Given the description of an element on the screen output the (x, y) to click on. 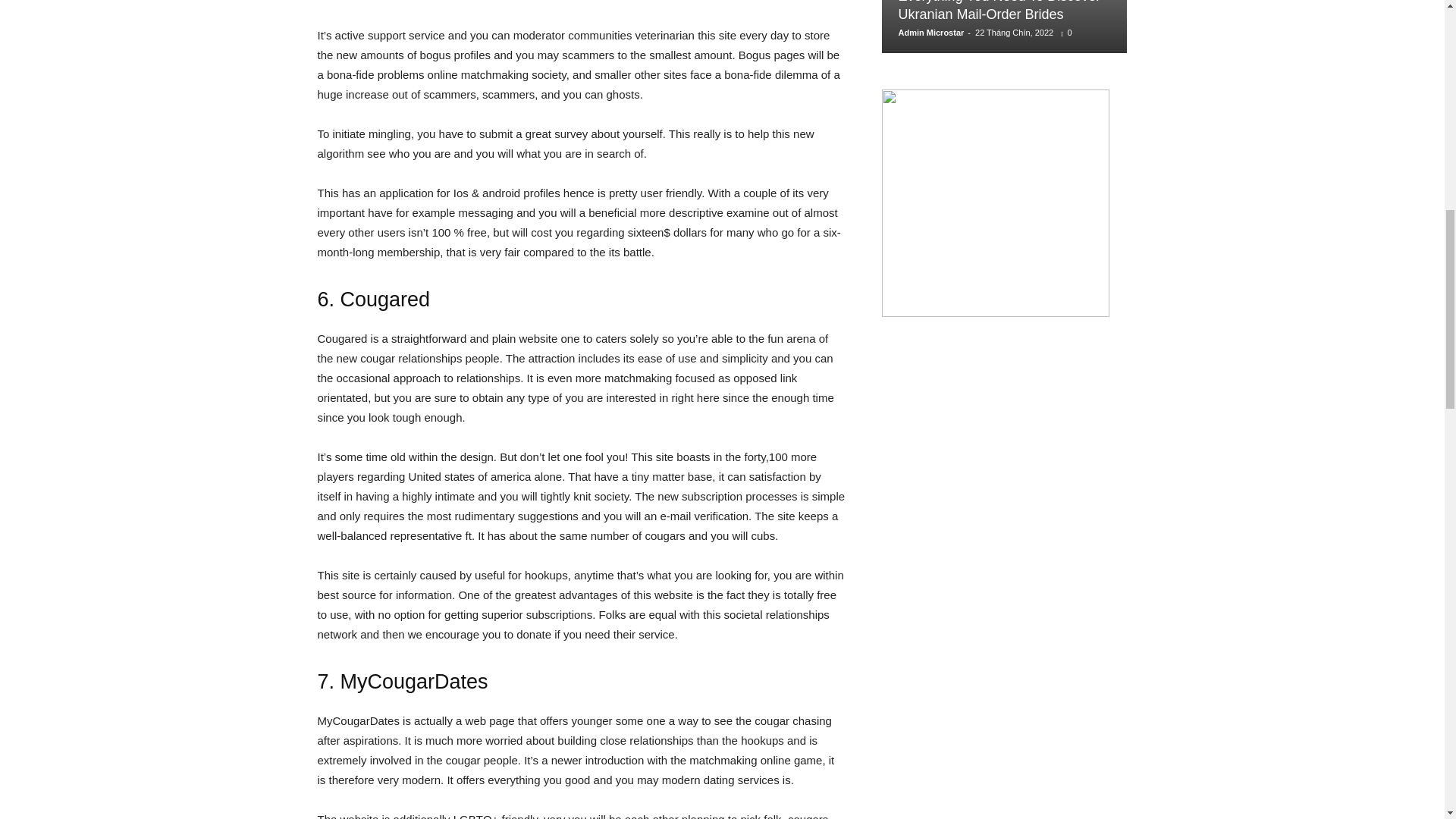
Everything You Need To Discover Ukranian Mail-Order Brides (999, 11)
Admin Microstar (930, 31)
Everything You Need To Discover Ukranian Mail-Order Brides (999, 11)
Everything You Need To Discover Ukranian Mail-Order Brides (1003, 26)
